Given the description of an element on the screen output the (x, y) to click on. 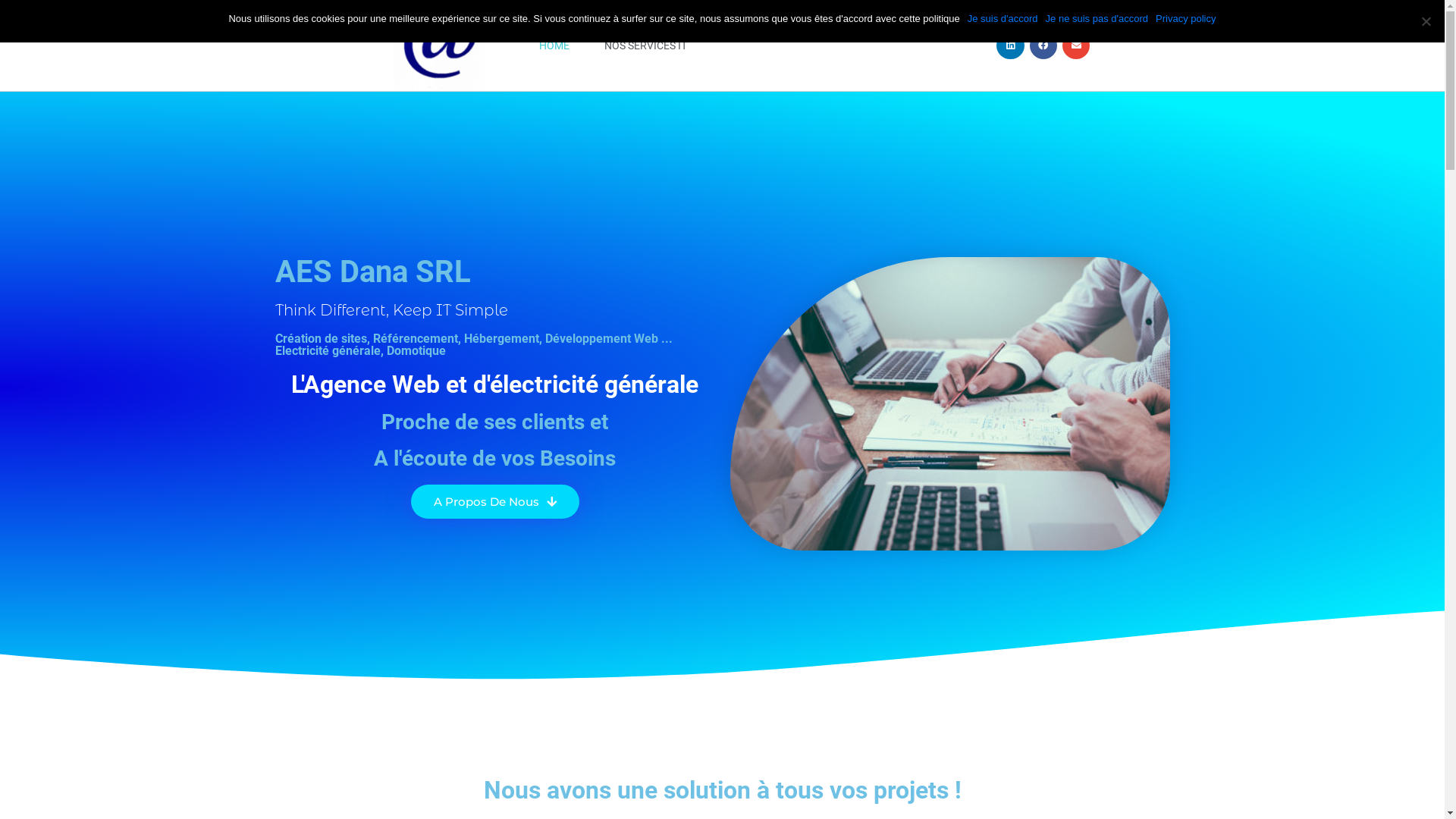
Je suis d'accord Element type: text (1002, 18)
Je ne suis pas d'accord Element type: text (1096, 18)
Privacy policy Element type: text (1185, 18)
HOME Element type: text (554, 45)
AES Dana SRL Element type: text (372, 270)
NOS SERVICES IT Element type: text (645, 45)
A Propos De Nous Element type: text (495, 500)
